Given the description of an element on the screen output the (x, y) to click on. 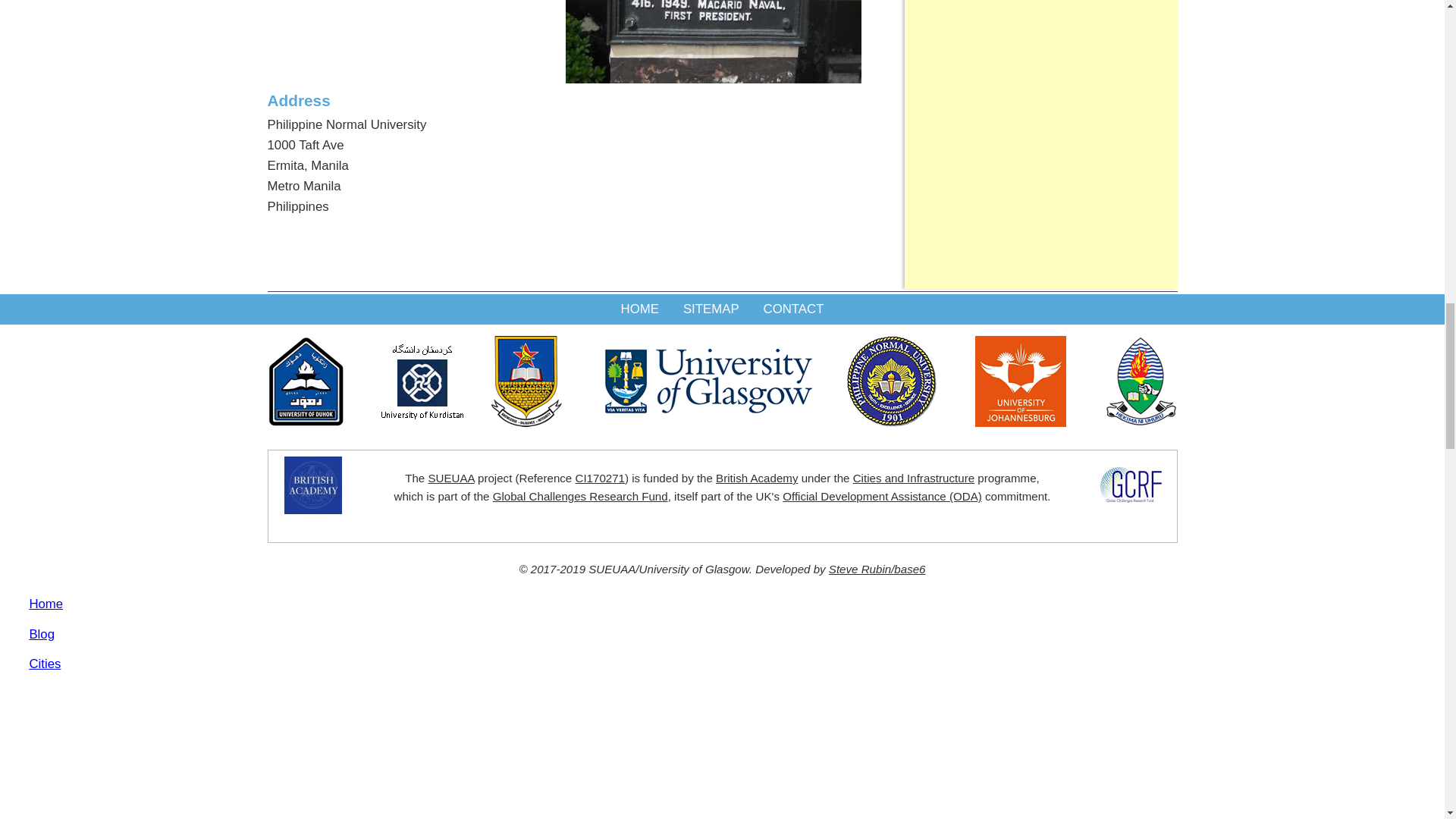
Philippine Normal University (713, 79)
Home (639, 309)
Sitemap (711, 309)
Philippine Normal University (713, 41)
